Given the description of an element on the screen output the (x, y) to click on. 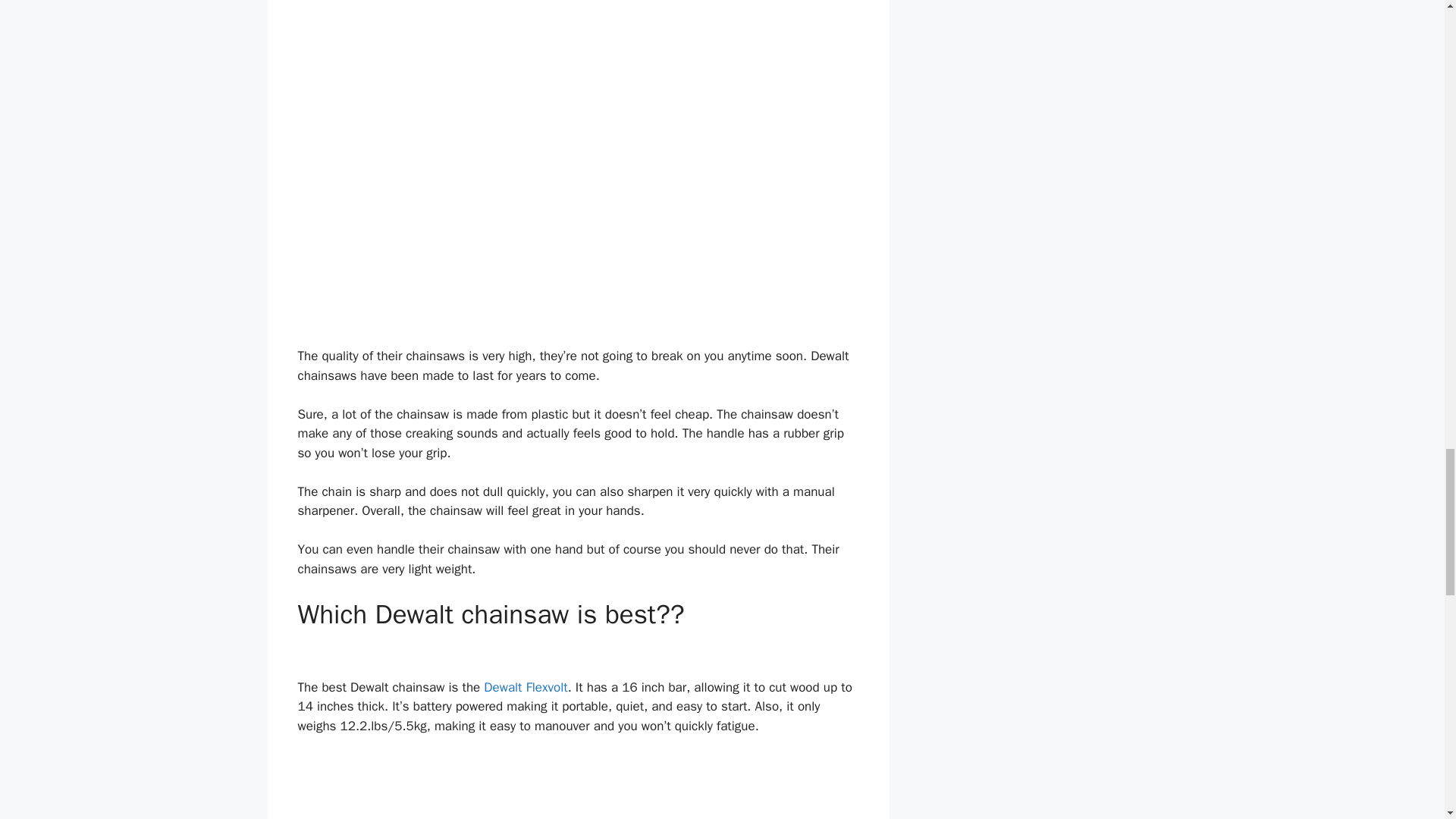
Dewalt Flexvolt (525, 687)
